Given the description of an element on the screen output the (x, y) to click on. 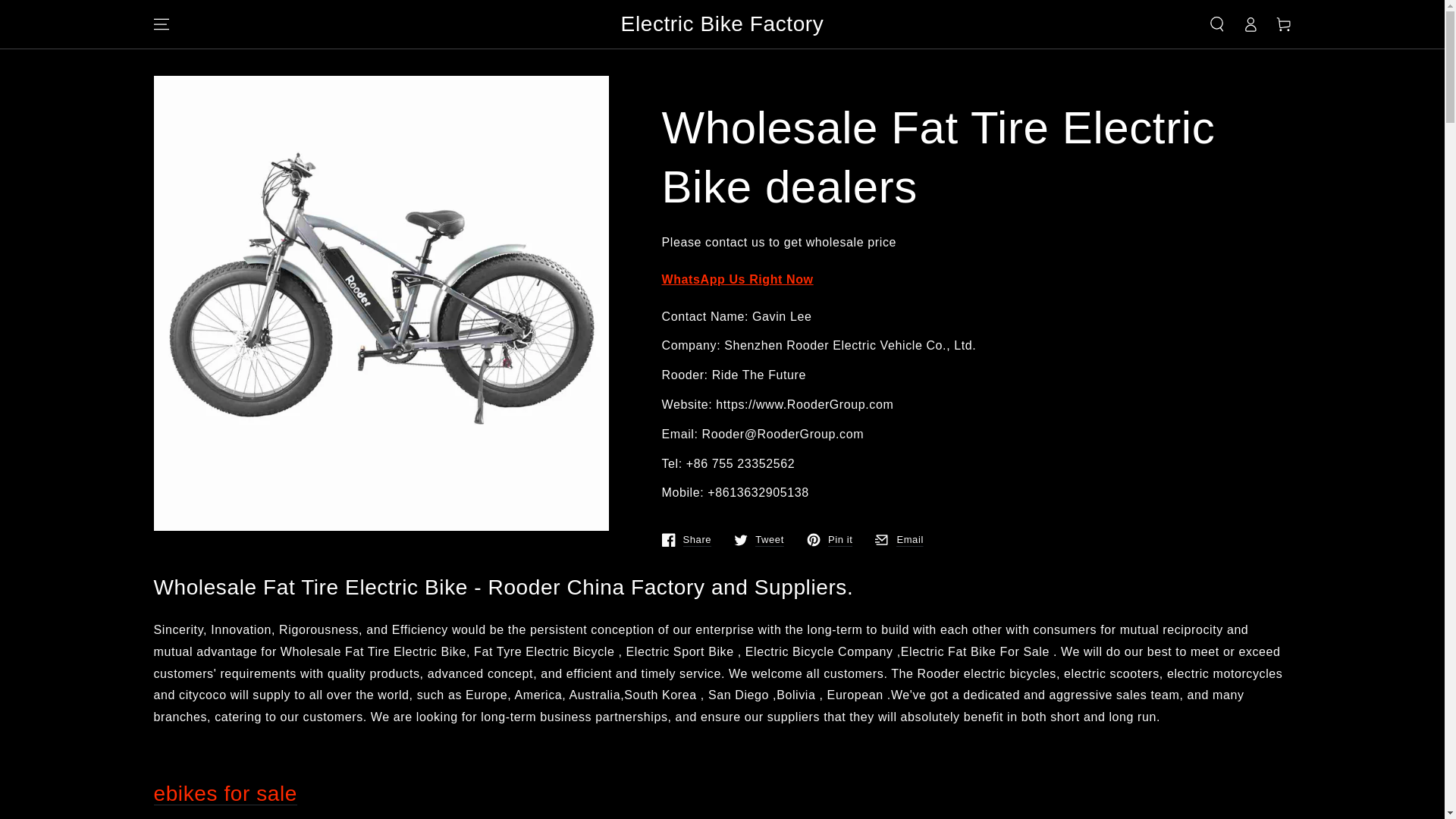
Electric Bike Factory (758, 539)
WhatsApp Us Right Now (722, 24)
Open media 1 in modal (736, 278)
SKIP TO PRODUCT INFORMATION (899, 539)
SKIP TO CONTENT (686, 539)
ebikes for sale (224, 793)
Log in (243, 94)
